Given the description of an element on the screen output the (x, y) to click on. 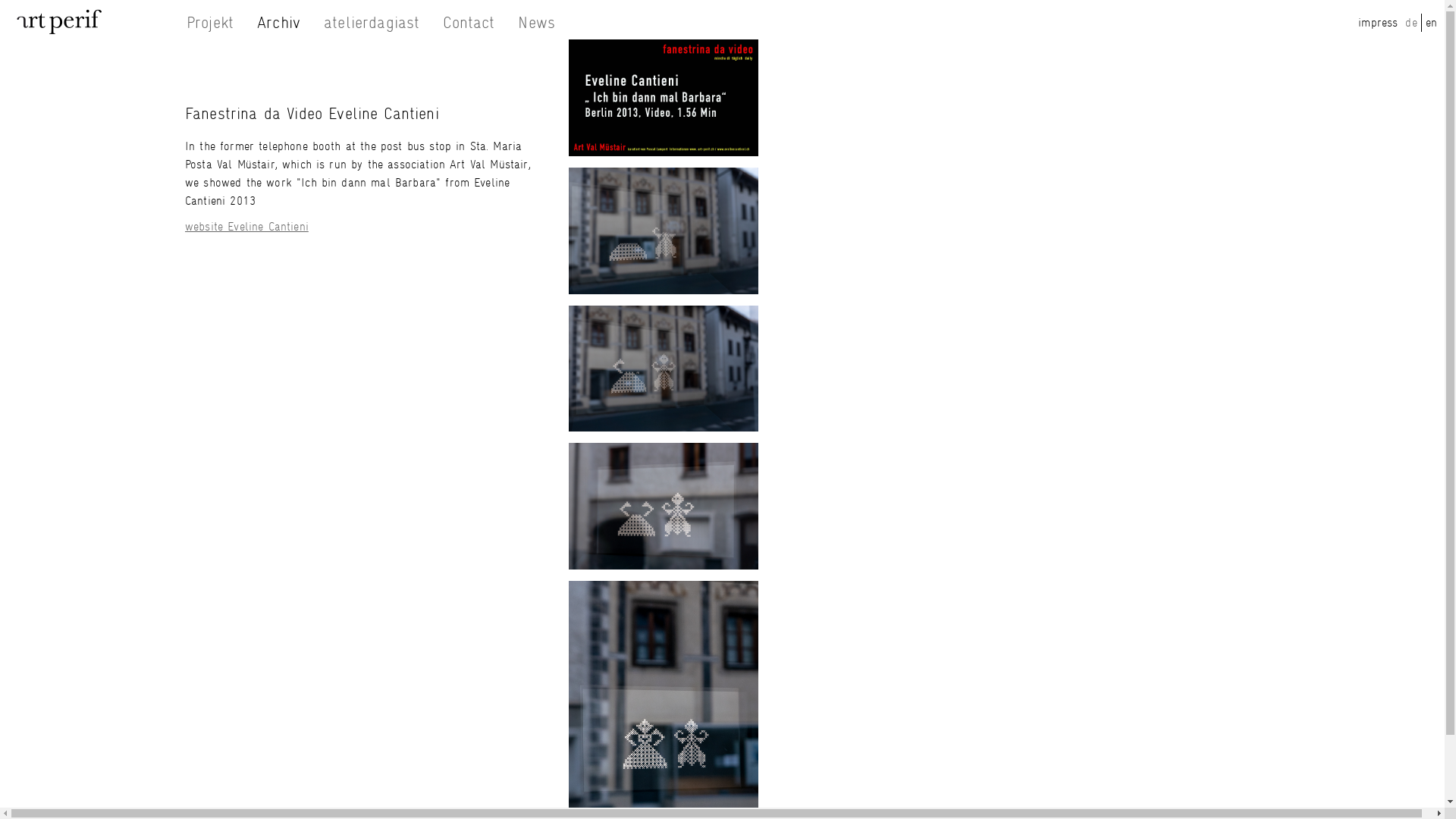
News Element type: text (536, 21)
Contact Element type: text (468, 21)
Projekt Element type: text (209, 21)
Fanestrina da Video Eveline Cantieni Element type: hover (663, 97)
en Element type: text (1431, 22)
de Element type: text (1410, 22)
website Eveline Cantieni Element type: text (246, 225)
Archiv Element type: text (278, 21)
impress Element type: text (1377, 22)
atelierdagiast Element type: text (371, 21)
